Given the description of an element on the screen output the (x, y) to click on. 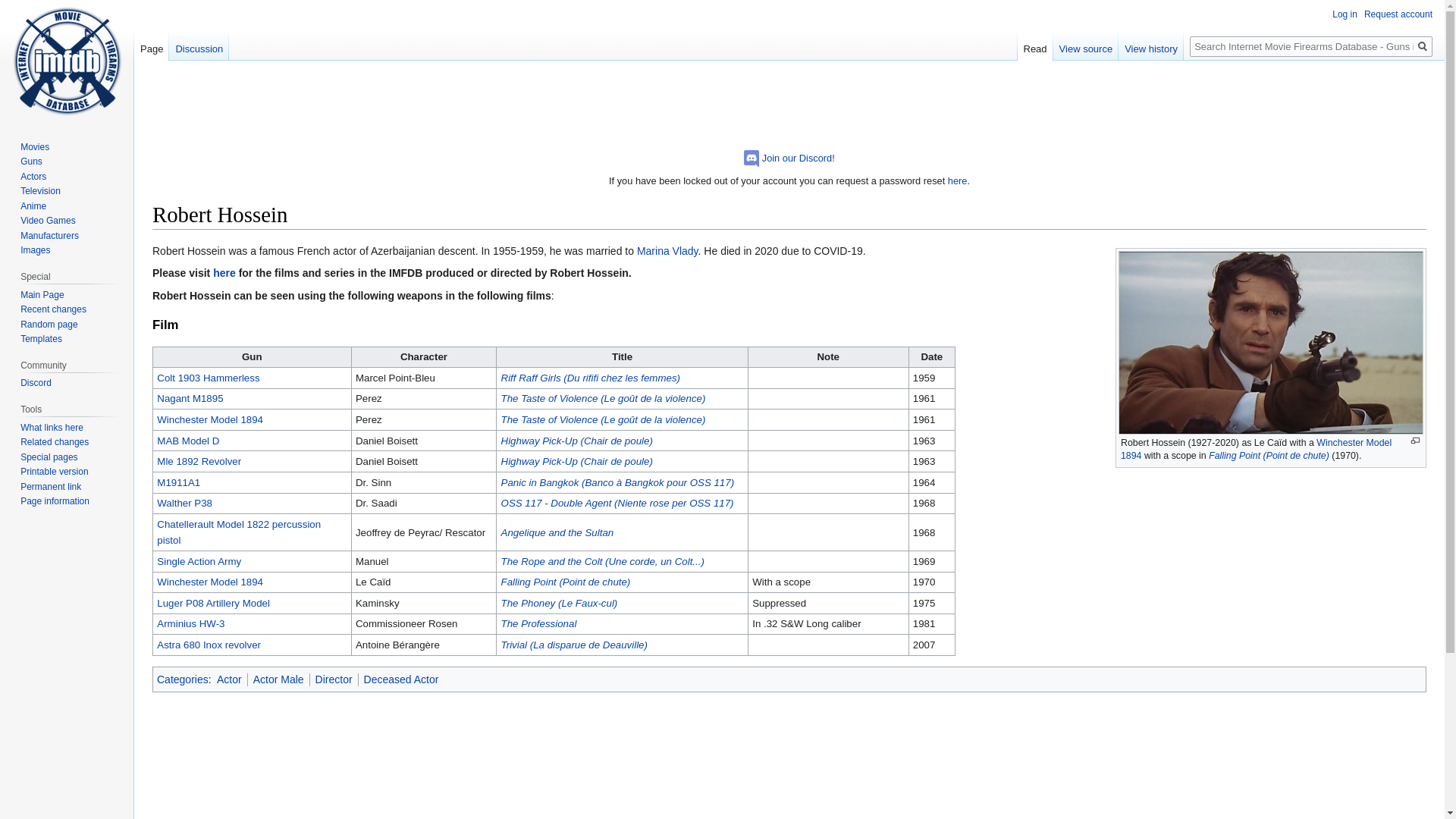
Angelique and the Sultan (557, 531)
Chatellerault Model 1822 percussion pistol (238, 532)
Talk:Robert Hossein (223, 272)
Marina Vlady (667, 250)
Special:PasswordReset (957, 180)
Search (1422, 46)
Colt 1903 Hammerless (208, 378)
Go (1422, 46)
Nagant M1895 (189, 398)
Join our Discord! (797, 157)
